Given the description of an element on the screen output the (x, y) to click on. 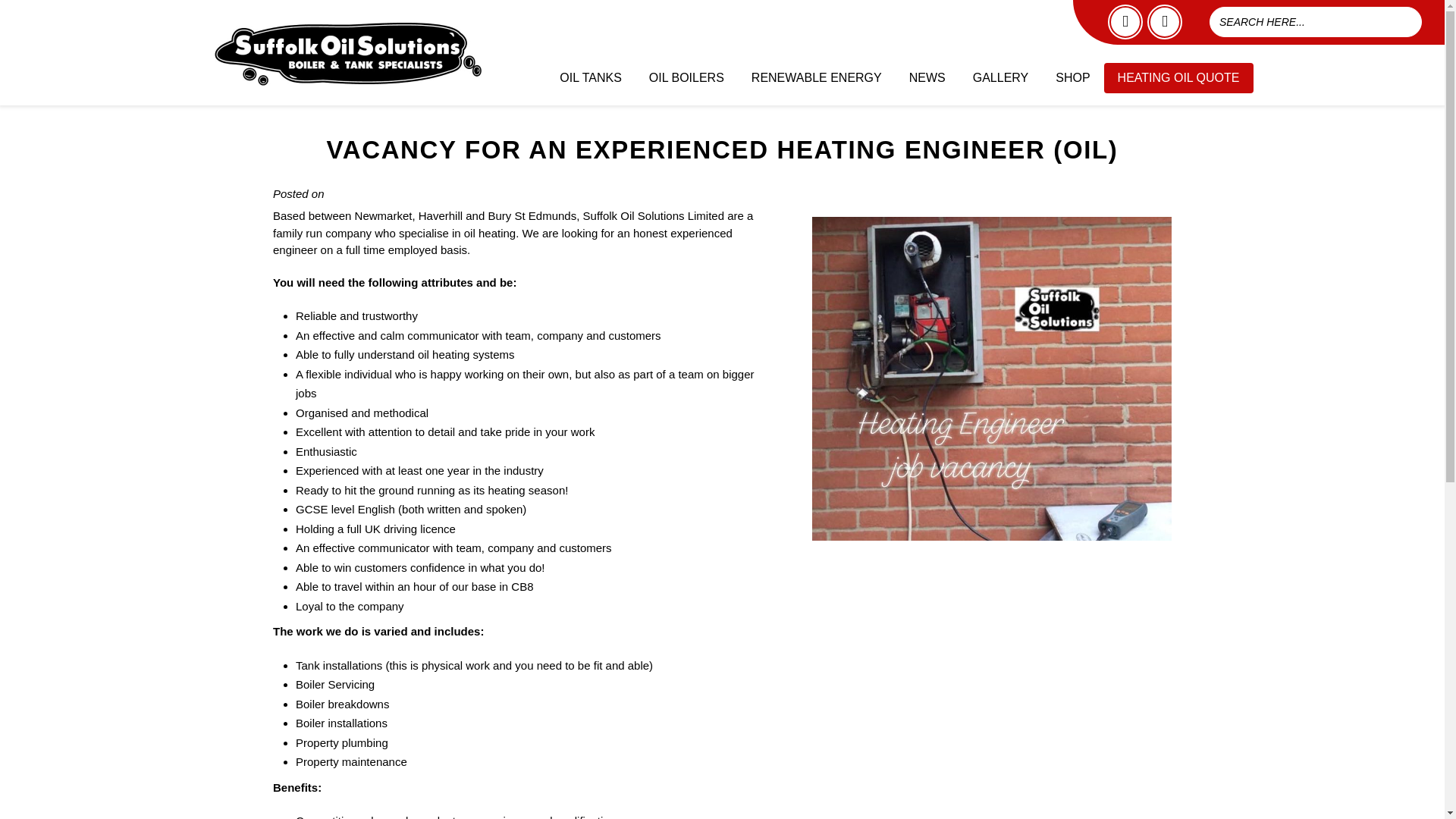
GALLERY (1000, 78)
SHOP (1072, 78)
HEATING OIL QUOTE (1178, 78)
OIL BOILERS (686, 78)
OIL TANKS (590, 78)
NEWS (927, 78)
RENEWABLE ENERGY (816, 78)
